Given the description of an element on the screen output the (x, y) to click on. 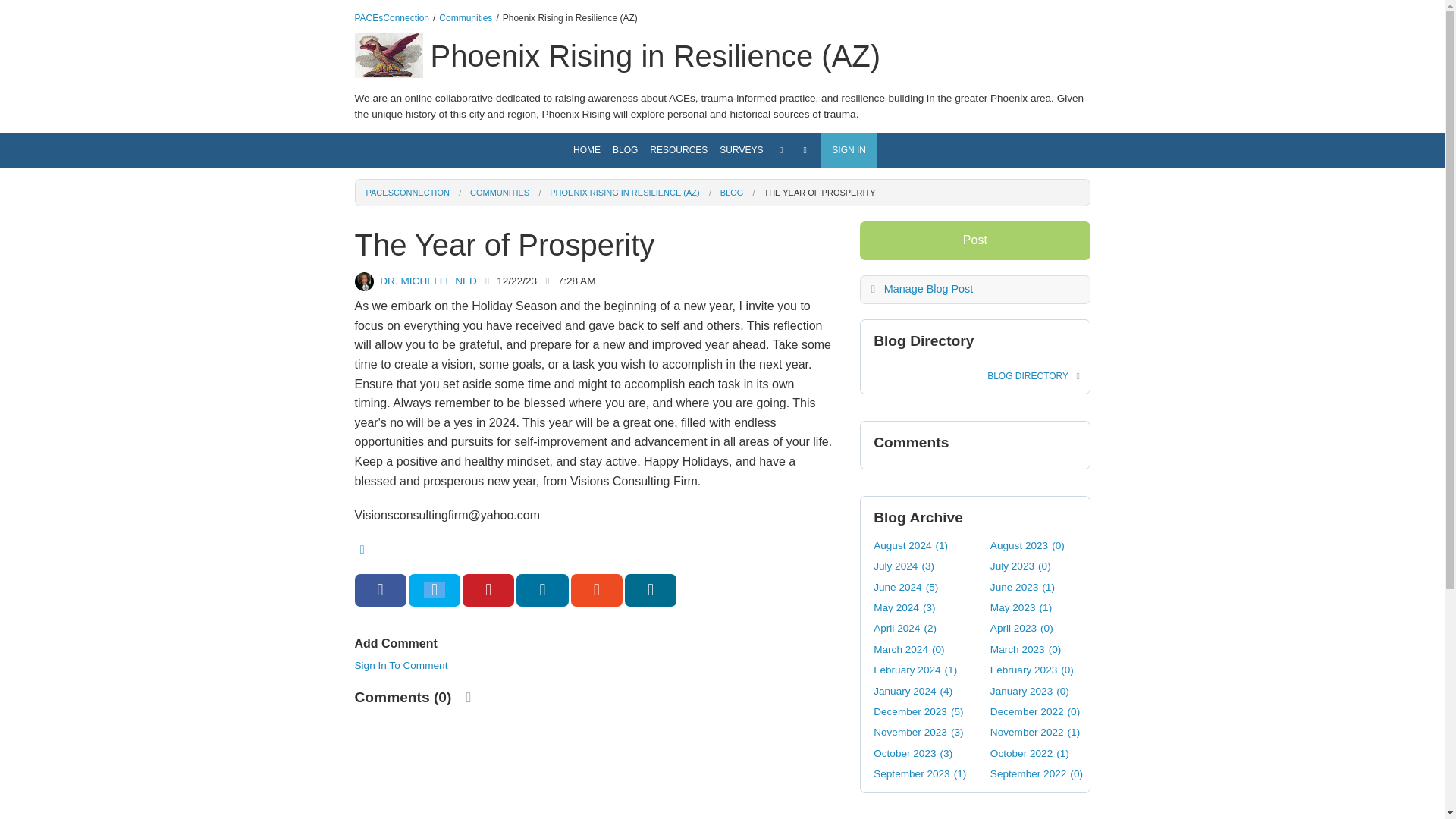
HOME (587, 150)
SURVEYS (740, 150)
ALL CATEGORIES (678, 207)
BLOG (625, 150)
BLOG (732, 192)
FILES (678, 314)
VIEW ALL (678, 180)
PACESCONNECTION (406, 192)
Dr.  Michelle Ned (364, 281)
RESOURCES (678, 150)
